Given the description of an element on the screen output the (x, y) to click on. 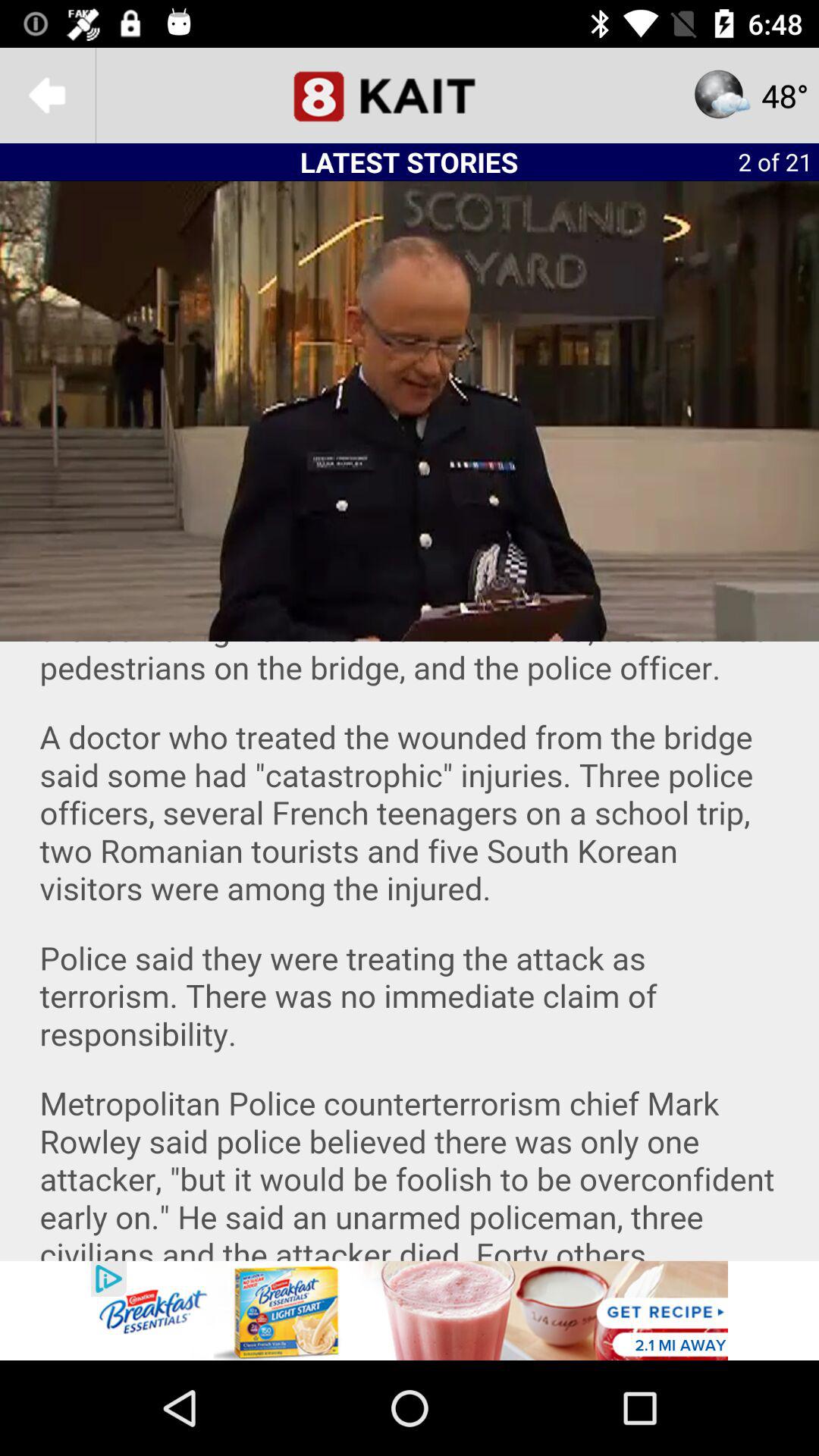
advertisement page (409, 1310)
